Given the description of an element on the screen output the (x, y) to click on. 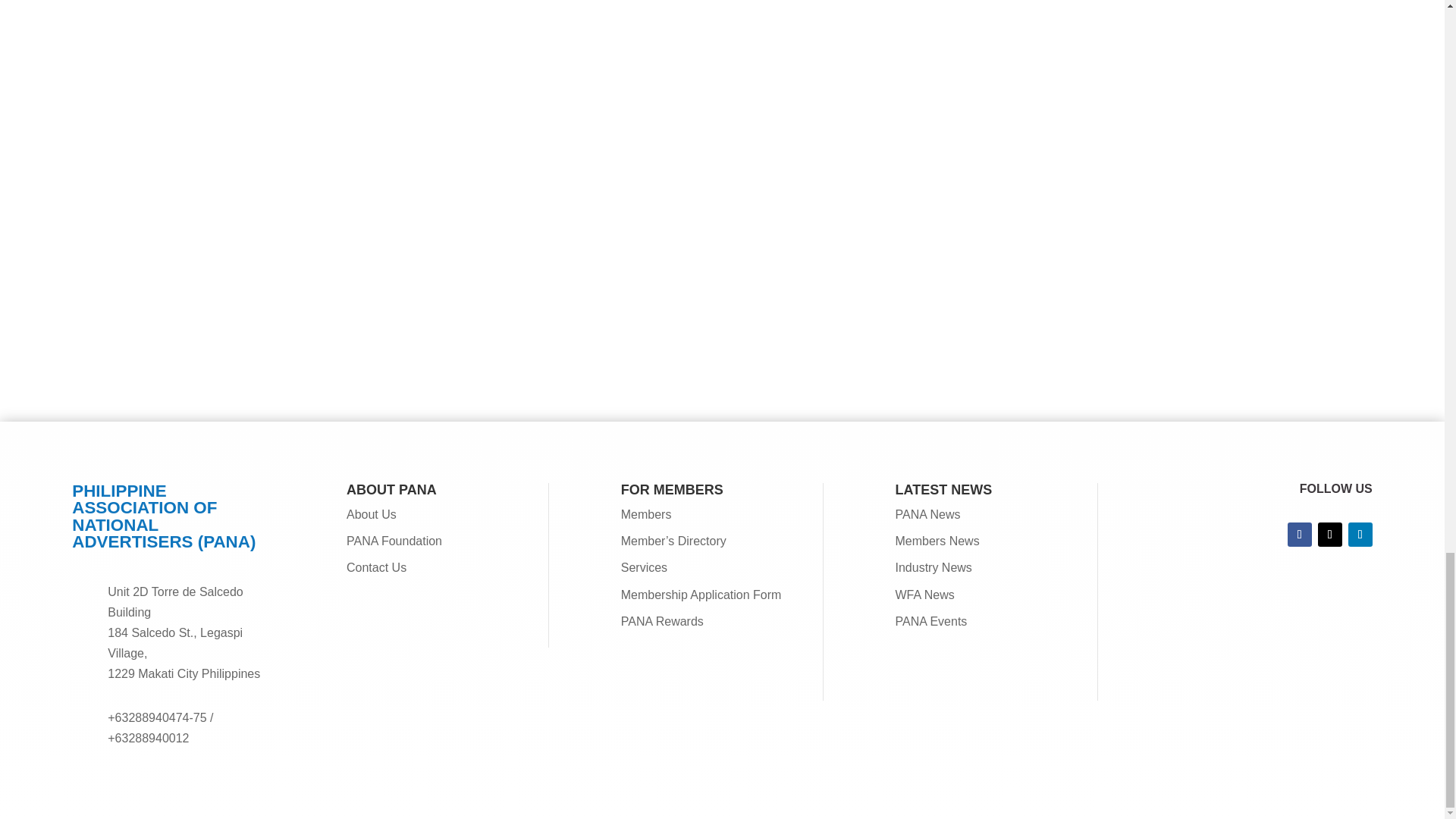
Follow on Facebook (1299, 534)
Follow on X (1329, 534)
Follow on LinkedIn (1360, 534)
